Given the description of an element on the screen output the (x, y) to click on. 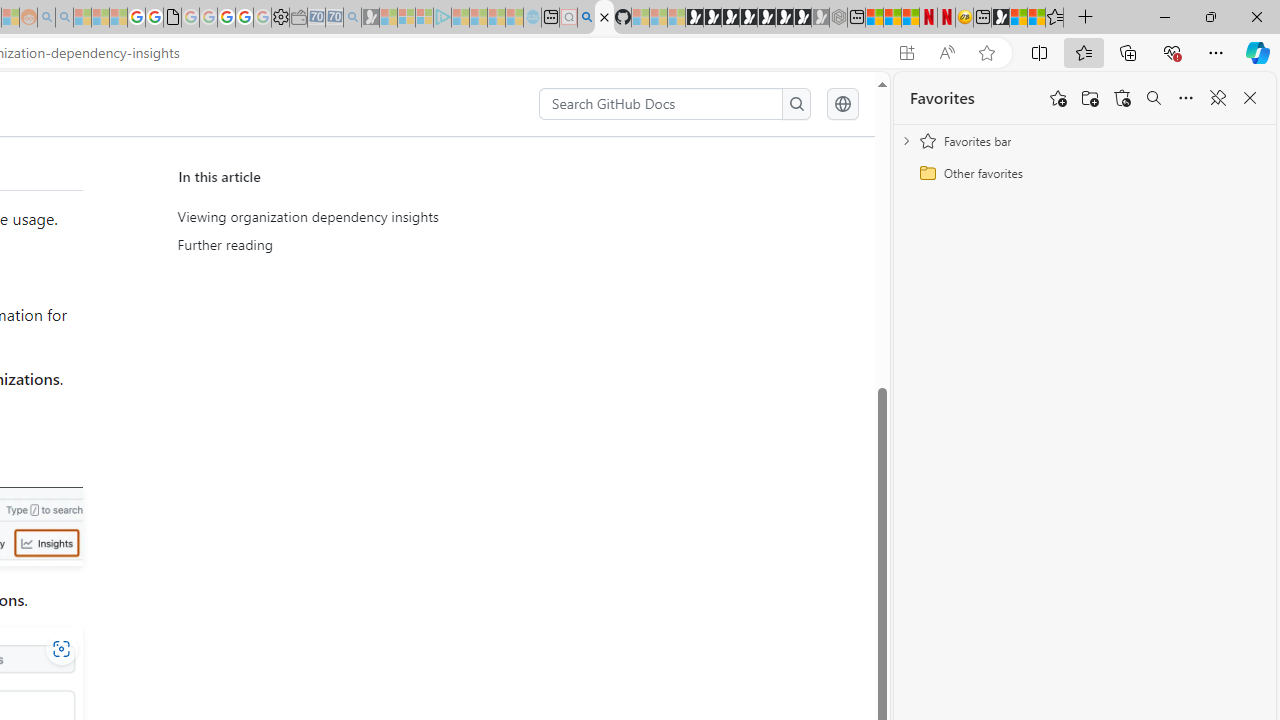
Add folder (1089, 98)
Unpin favorites (1217, 98)
